Given the description of an element on the screen output the (x, y) to click on. 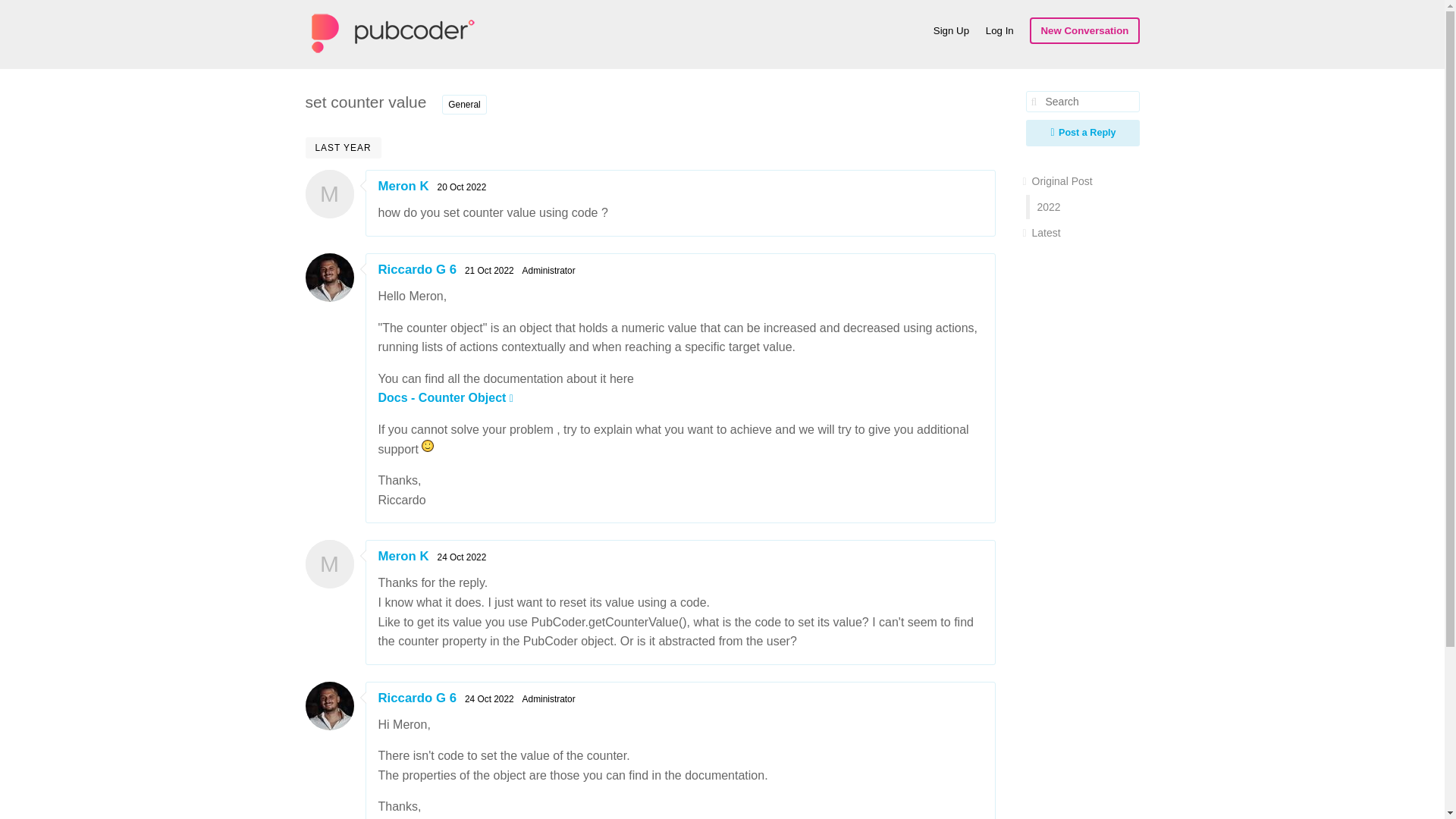
21 Oct 2022 (488, 270)
Sign Up (951, 30)
View Meron K's profile (402, 186)
Post a Reply (1081, 132)
Log In (999, 30)
24 Oct 2022 (462, 557)
View Riccardo G 6's profile (417, 698)
M (328, 193)
2022 (1084, 206)
New Conversation (1083, 30)
View Meron K's profile (402, 555)
Riccardo G 6 (417, 269)
Mon Oct 24 13:56:06 2022 (462, 557)
General (464, 104)
Meron K (402, 555)
